Given the description of an element on the screen output the (x, y) to click on. 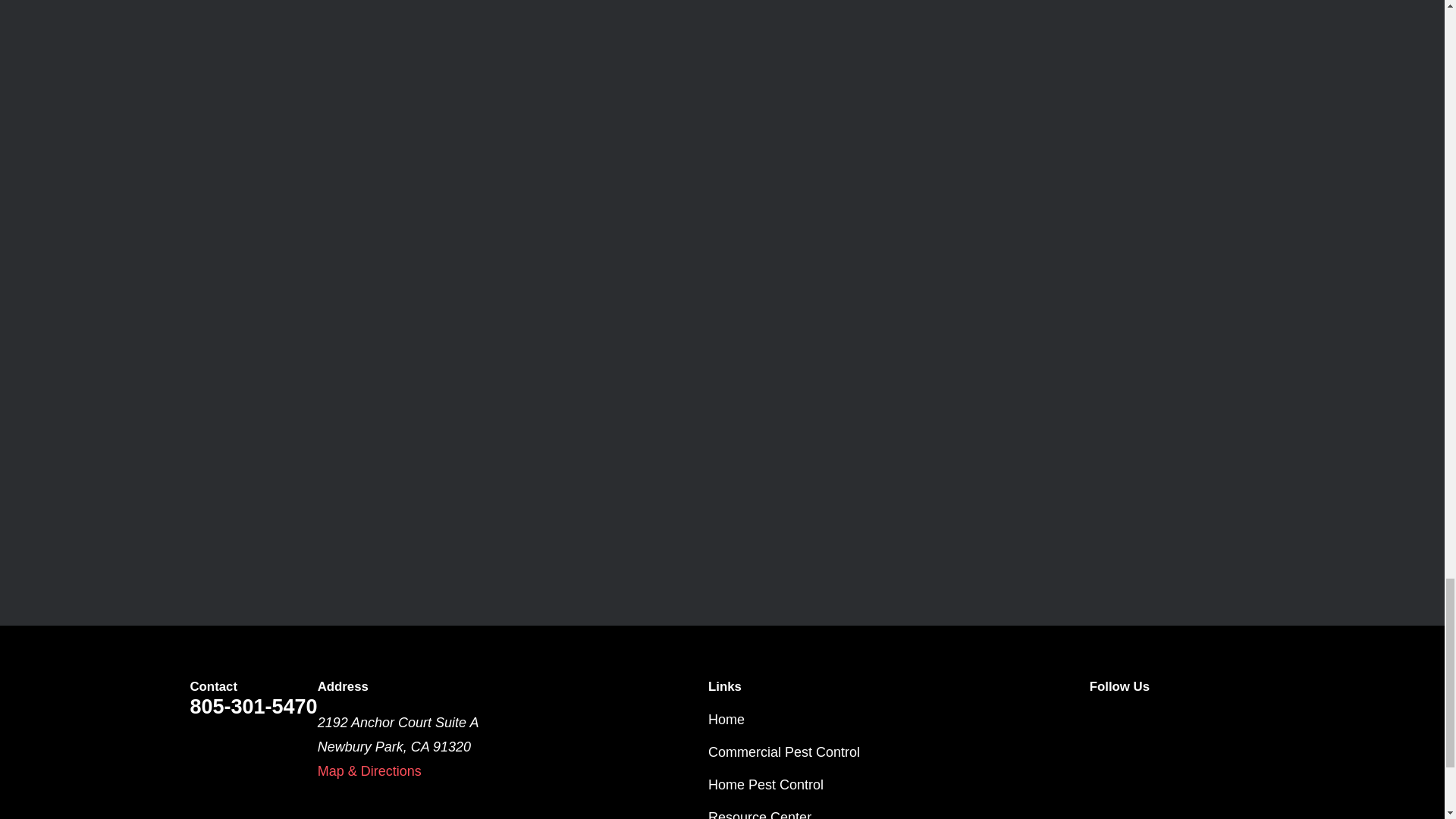
Google Business Profile (1195, 719)
Twitter (1098, 719)
Yelp (1243, 719)
Facebook (1147, 719)
